Given the description of an element on the screen output the (x, y) to click on. 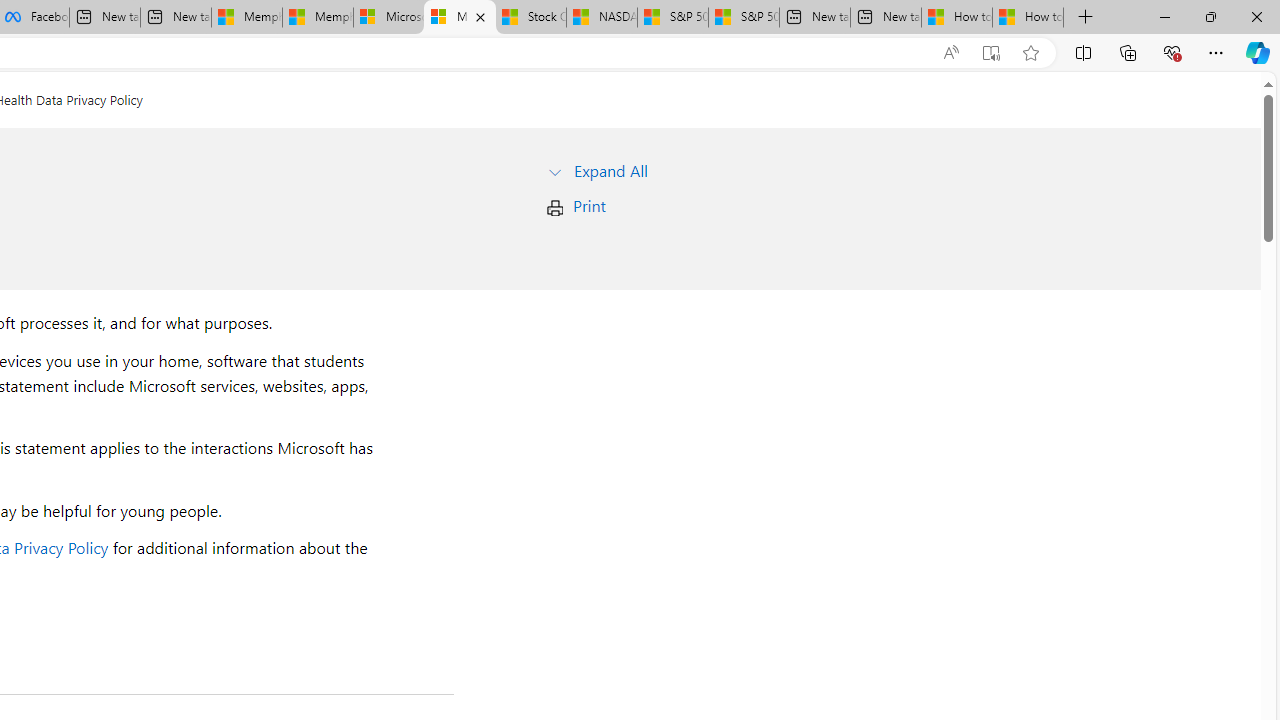
Expand All (610, 170)
Enter Immersive Reader (F9) (991, 53)
Print (589, 205)
